Given the description of an element on the screen output the (x, y) to click on. 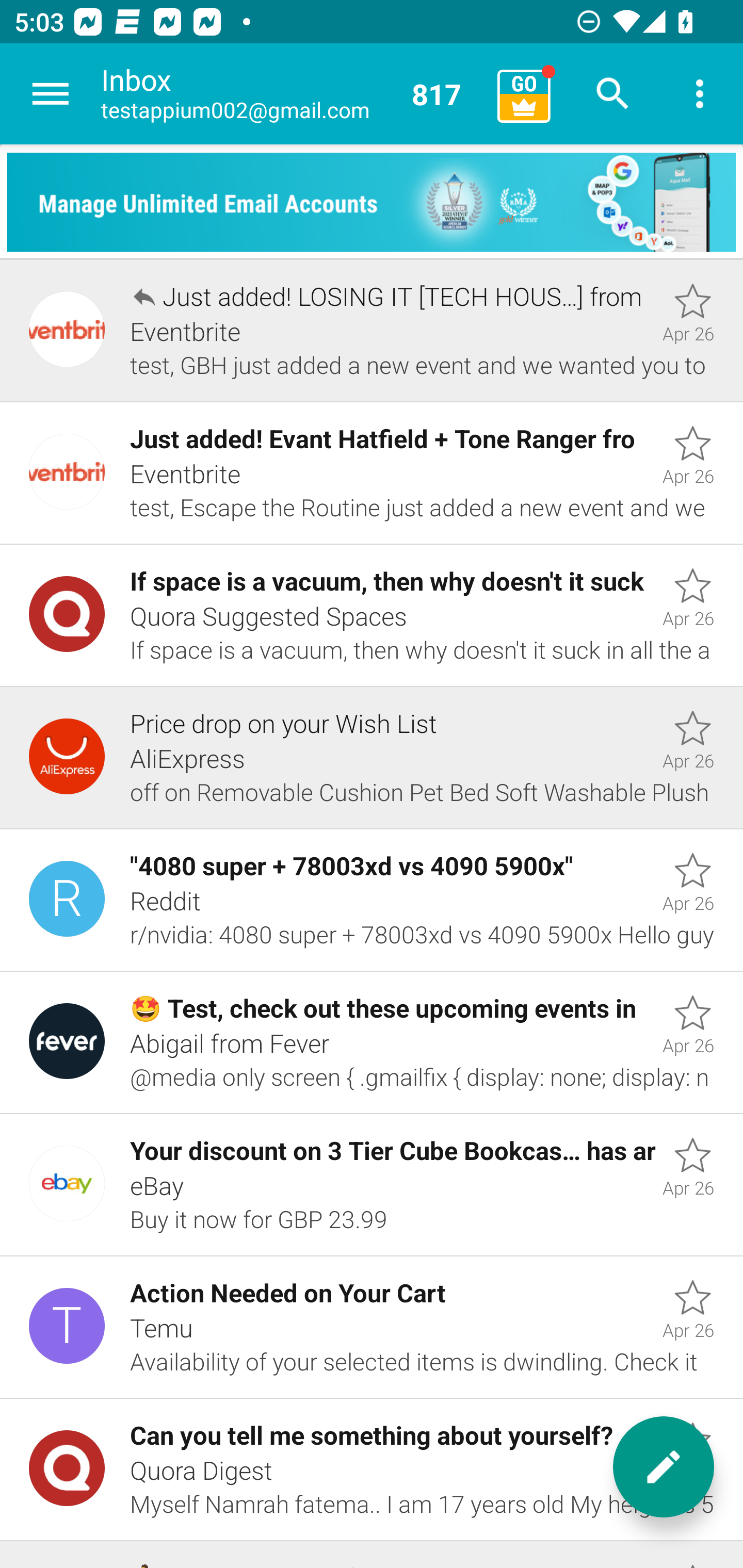
Navigate up (50, 93)
Inbox testappium002@gmail.com 817 (291, 93)
Search (612, 93)
More options (699, 93)
New message (663, 1466)
